Given the description of an element on the screen output the (x, y) to click on. 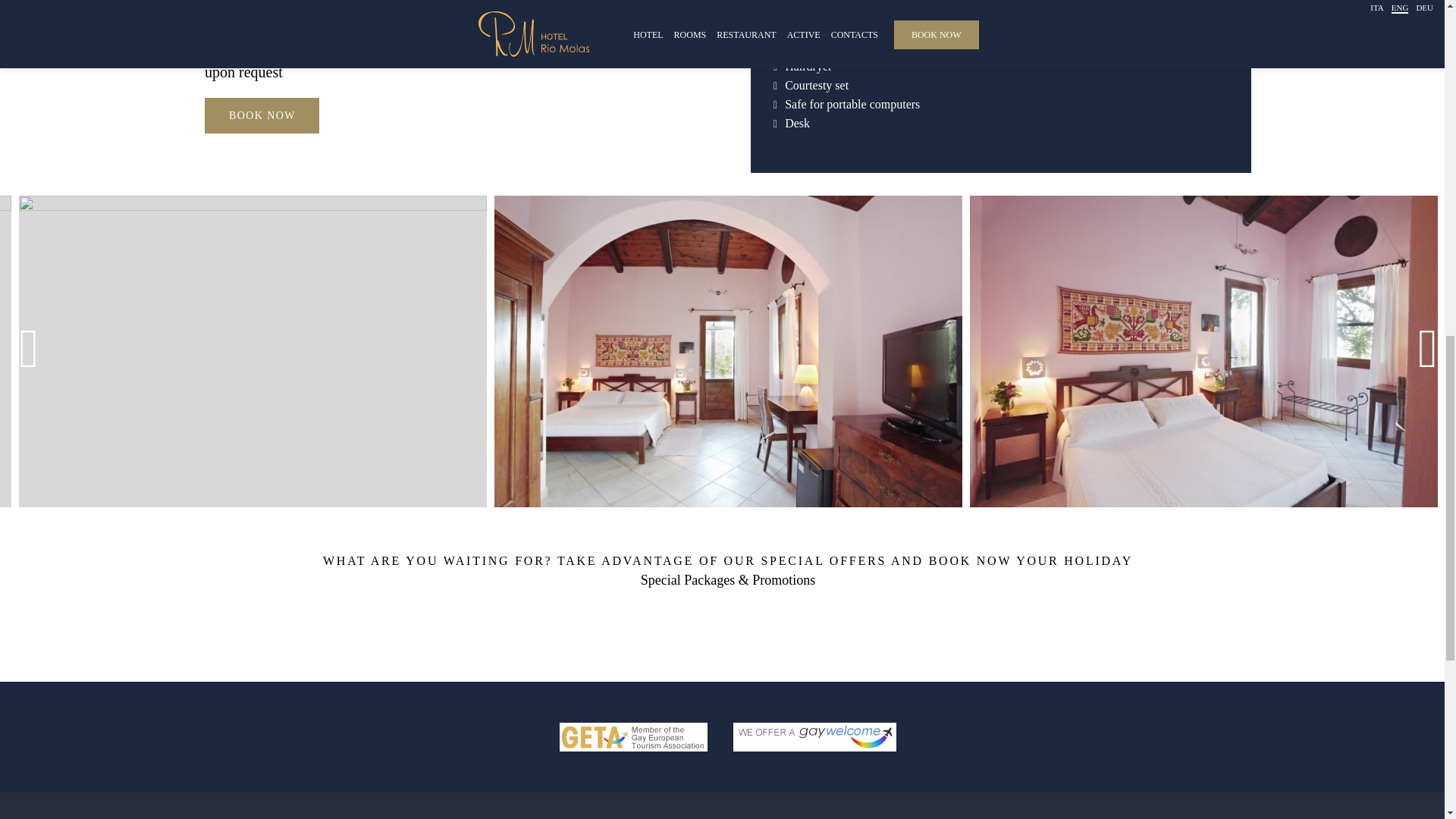
BOOK NOW (261, 115)
